Given the description of an element on the screen output the (x, y) to click on. 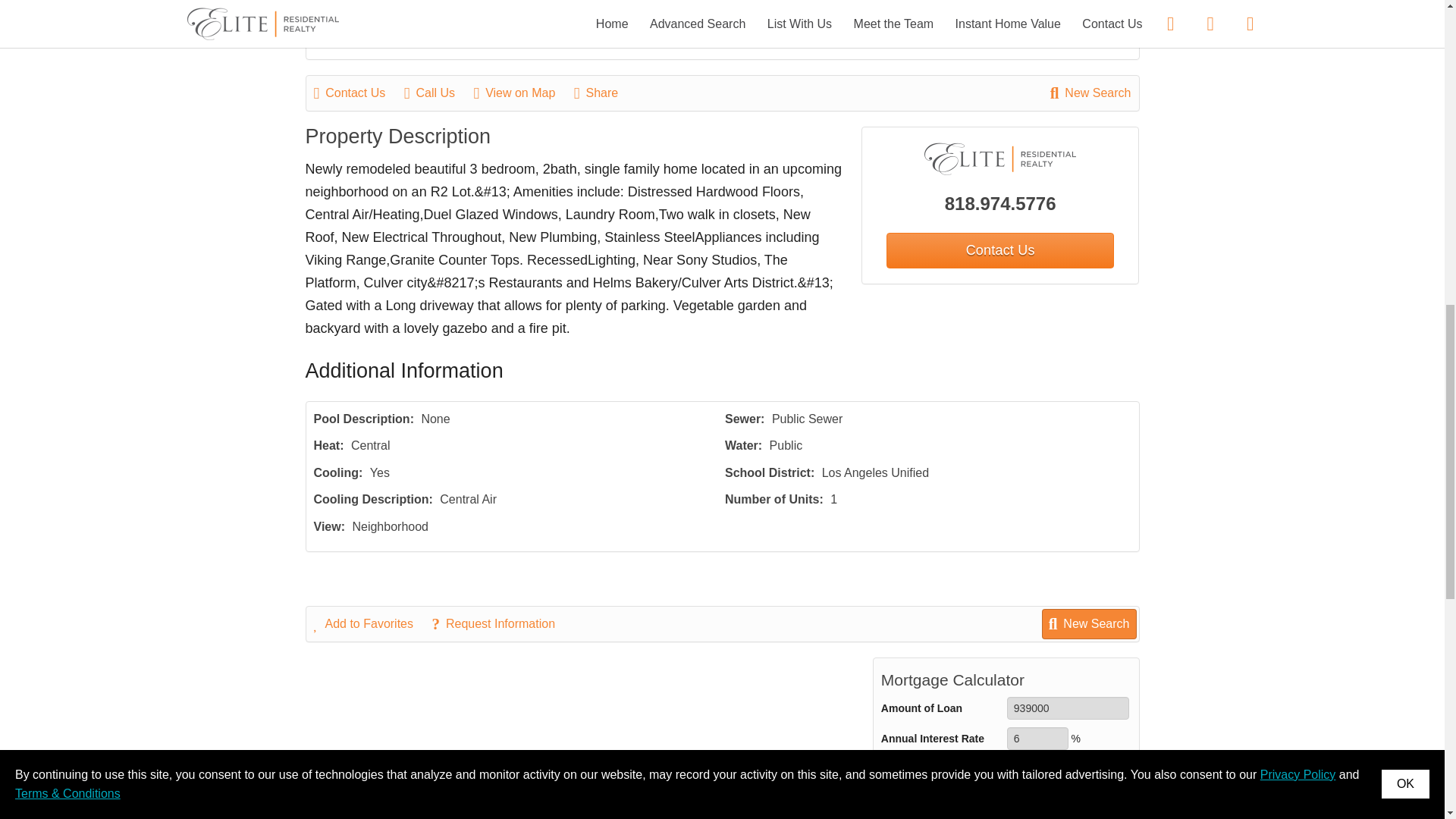
View on Map (521, 92)
Call Us (437, 92)
New Search (1090, 92)
Contact Us (999, 250)
939000 (1068, 707)
6 (1037, 738)
Contact Us (357, 92)
Share (603, 92)
818.974.5776 (1000, 203)
30 (1037, 768)
